Given the description of an element on the screen output the (x, y) to click on. 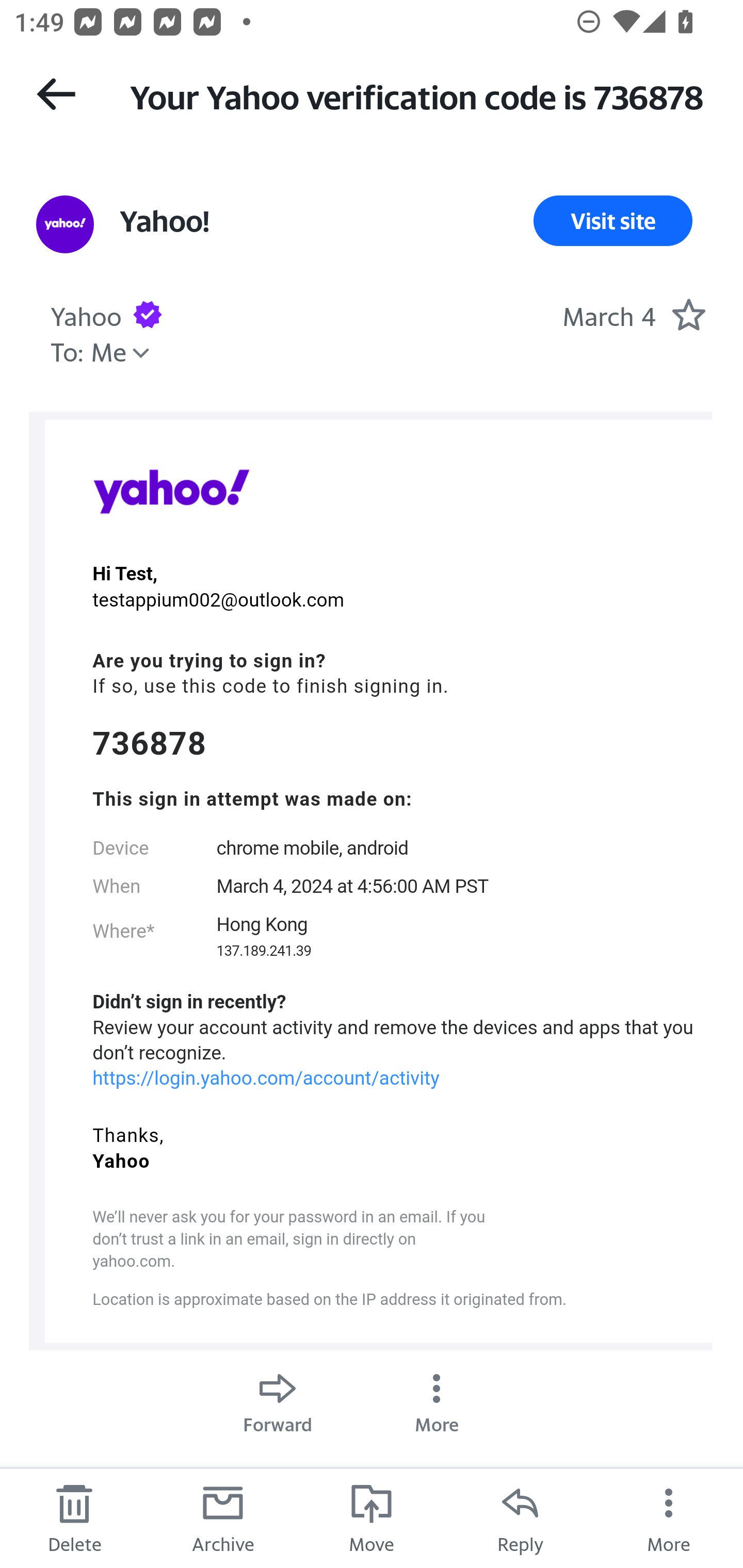
Back (55, 93)
View all messages from sender (64, 225)
Visit site Visit Site Link (612, 221)
Yahoo! Sender Yahoo! (164, 220)
Mark as starred. (688, 314)
Yahoo (171, 490)
https://login.yahoo.com/account/activity (265, 1077)
Forward (277, 1398)
More (436, 1398)
Delete (74, 1517)
Archive (222, 1517)
Move (371, 1517)
Reply (519, 1517)
More (668, 1517)
